Given the description of an element on the screen output the (x, y) to click on. 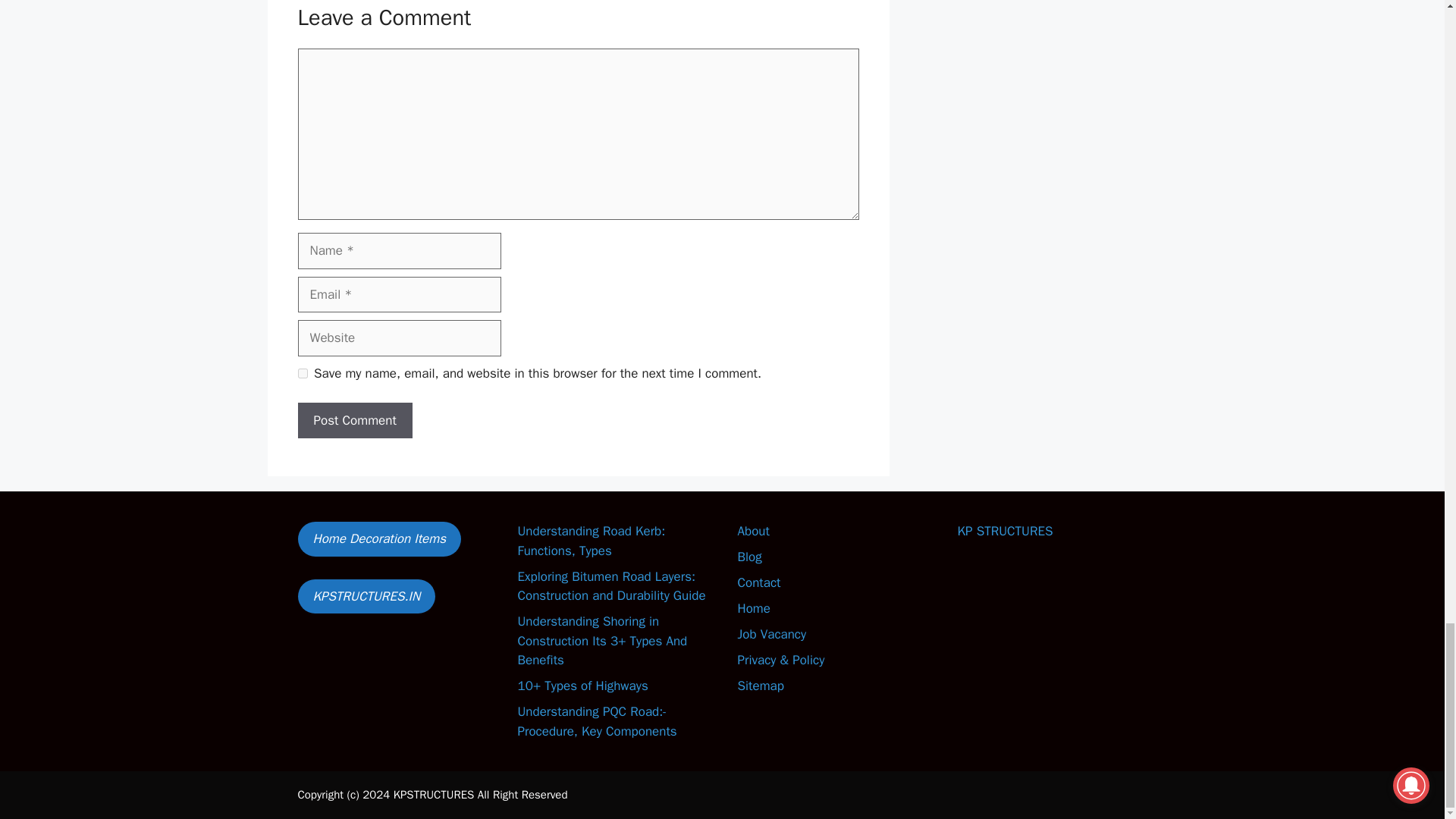
yes (302, 373)
Post Comment (354, 420)
